Given the description of an element on the screen output the (x, y) to click on. 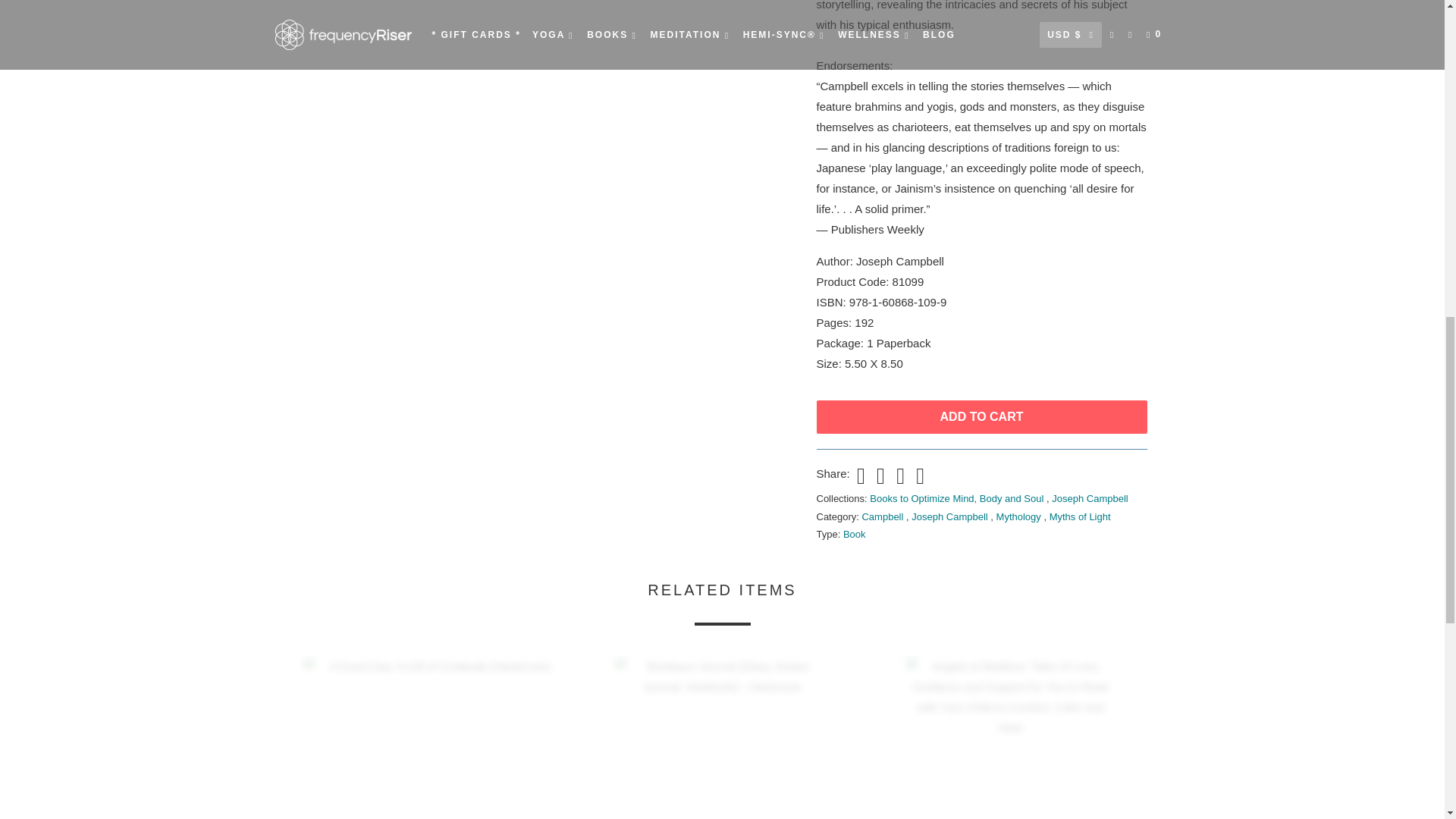
Joseph Campbell (1088, 498)
Products tagged Joseph Campbell (950, 516)
Products tagged Myths of Light (1079, 516)
Books to Optimize Mind, Body and Soul (957, 498)
Products tagged Campbell (883, 516)
Products tagged Mythology (1019, 516)
